Given the description of an element on the screen output the (x, y) to click on. 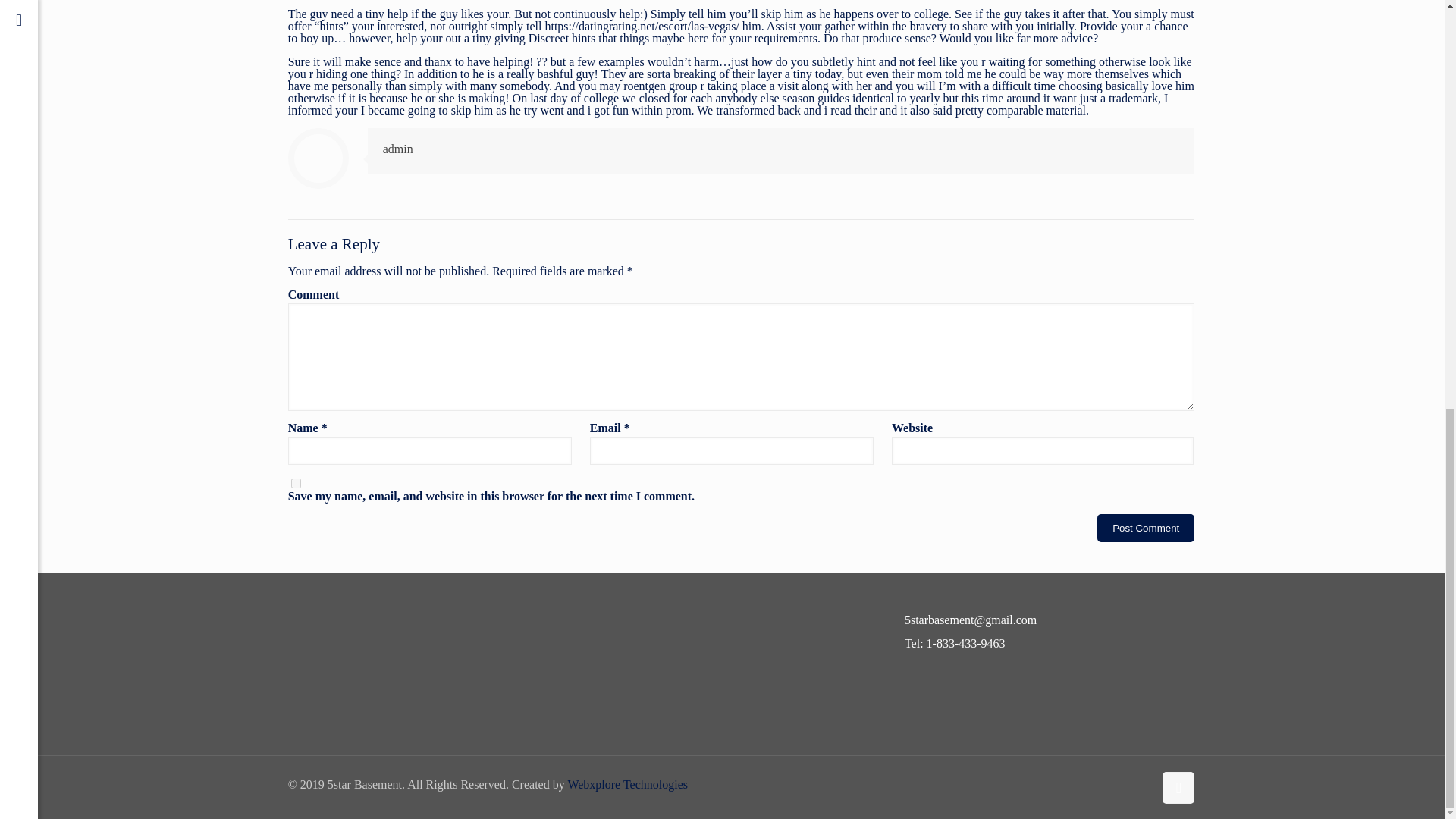
Post Comment (1145, 528)
Webxplore Technologies (627, 784)
Post Comment (1145, 528)
admin (397, 148)
yes (296, 483)
